Given the description of an element on the screen output the (x, y) to click on. 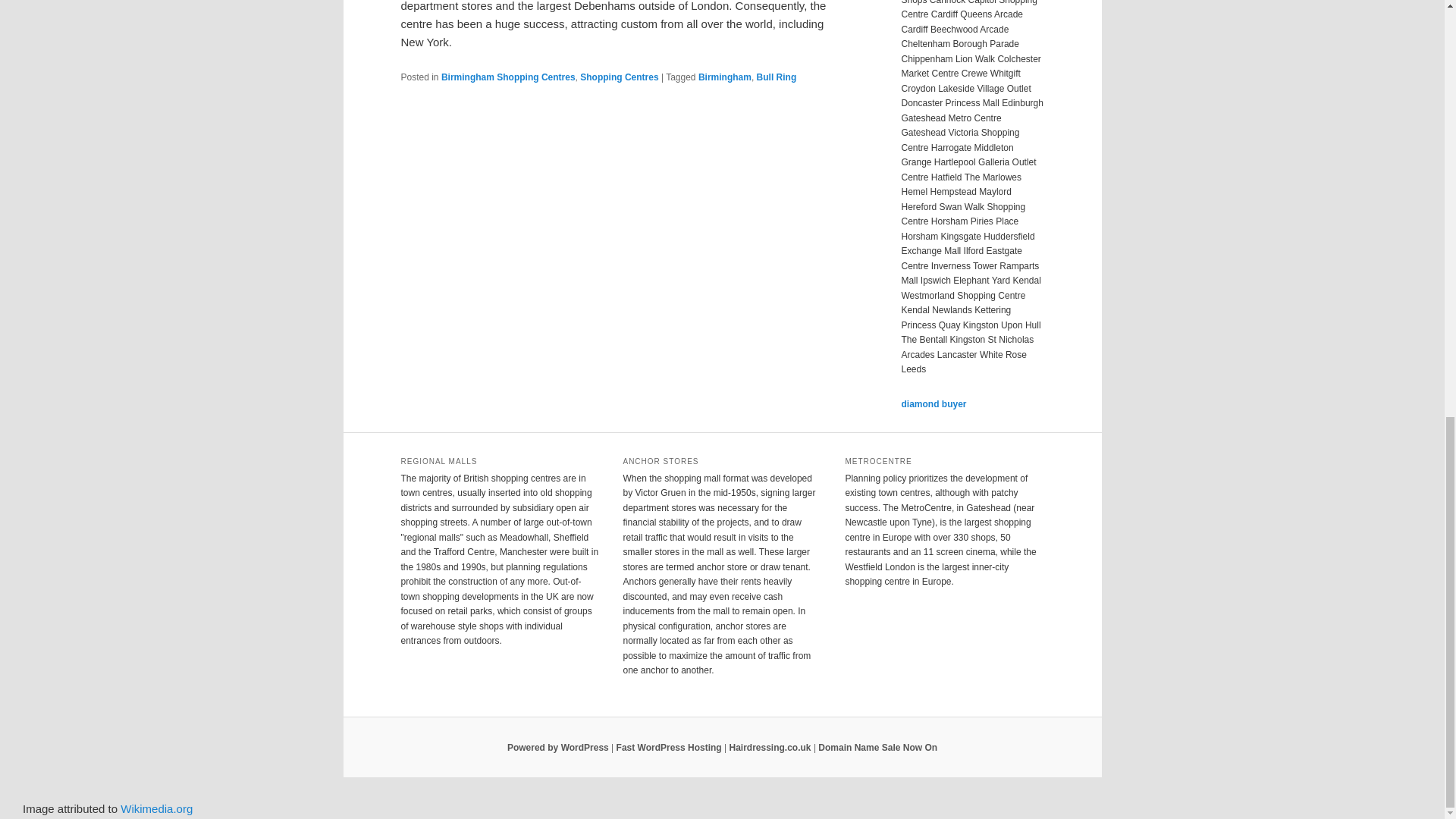
Birmingham (724, 77)
Semantic Personal Publishing Platform (557, 747)
Bull Ring (776, 77)
diamond buyer (933, 403)
Wikimedia.org (156, 808)
Powered by WordPress (557, 747)
Hairdressing.co.uk (769, 747)
Birmingham Shopping Centres (508, 77)
Shopping Centres (618, 77)
Fast WordPress Hosting (668, 747)
Domain Name Sale Now On (877, 747)
